Given the description of an element on the screen output the (x, y) to click on. 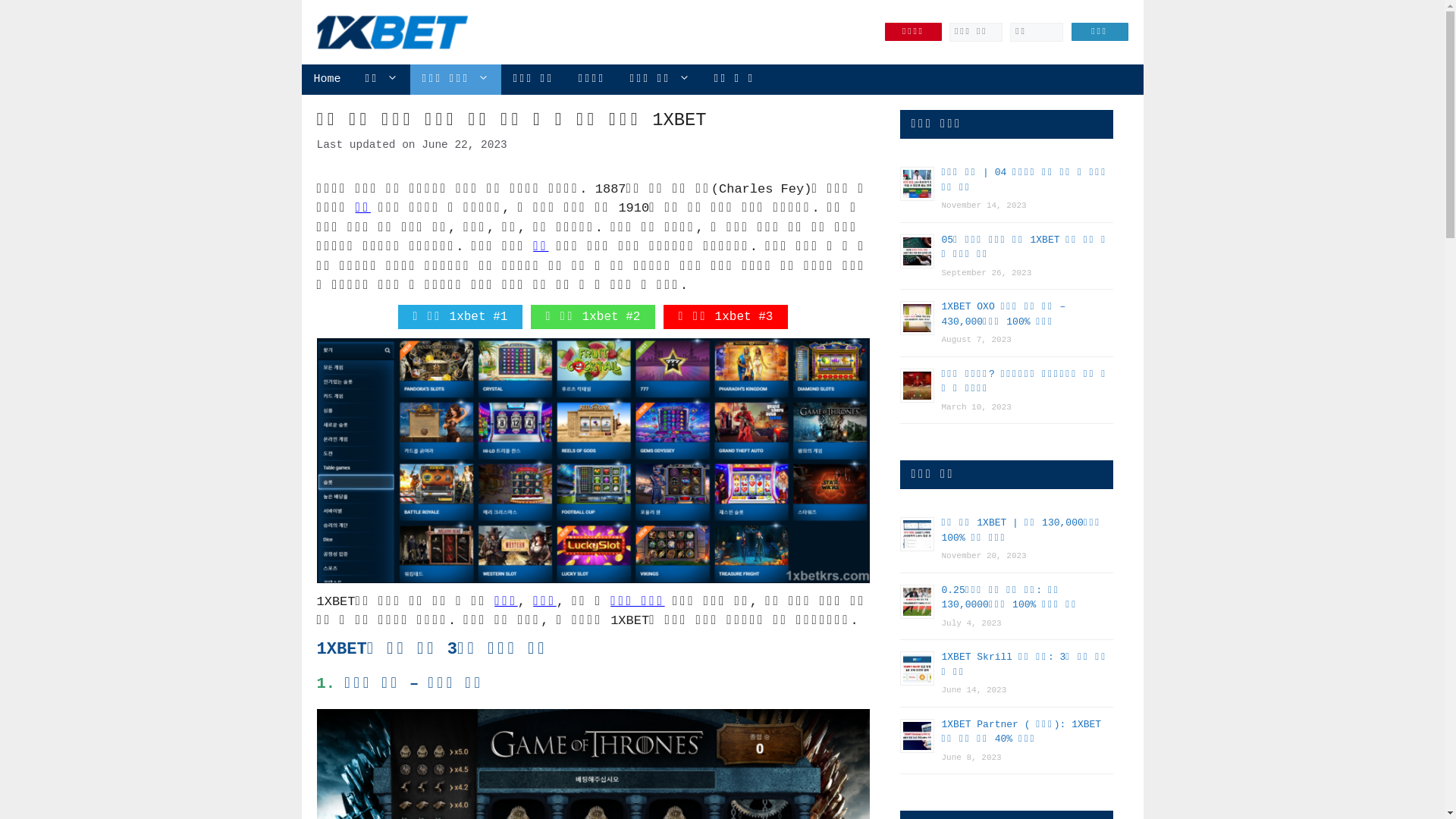
Home Element type: text (327, 79)
